Given the description of an element on the screen output the (x, y) to click on. 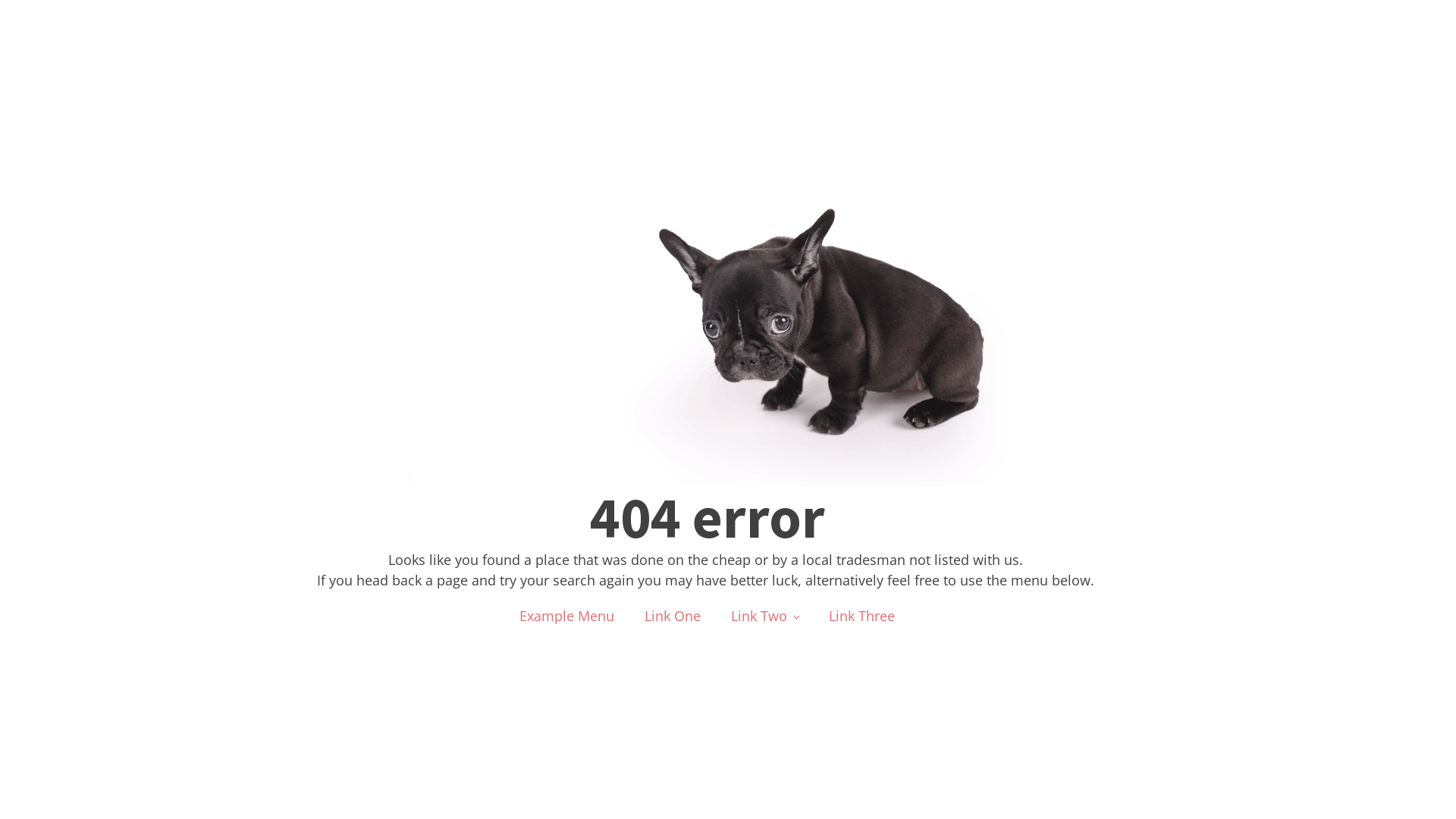
Link Two Element type: text (764, 615)
Link Three Element type: text (861, 615)
Link One Element type: text (672, 615)
Example Menu Element type: text (566, 615)
